Given the description of an element on the screen output the (x, y) to click on. 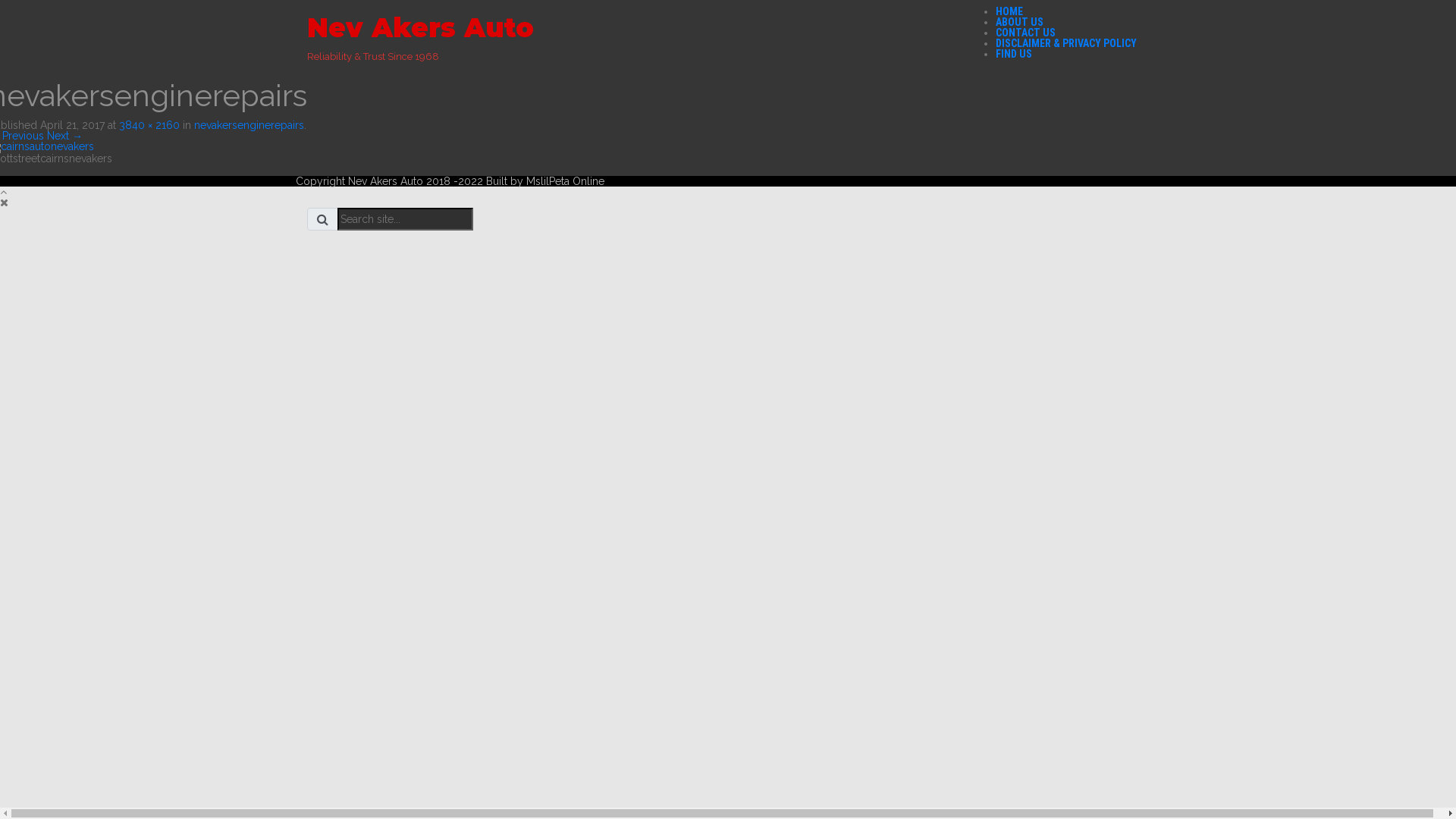
Search for: Element type: hover (405, 218)
HOME Element type: text (1008, 11)
nevakersenginerepairs Element type: text (249, 125)
FIND US Element type: text (1013, 53)
CONTACT US Element type: text (1025, 32)
ABOUT US Element type: text (1019, 21)
Nev Akers Auto Element type: text (420, 27)
DISCLAIMER & PRIVACY POLICY Element type: text (1065, 43)
